Given the description of an element on the screen output the (x, y) to click on. 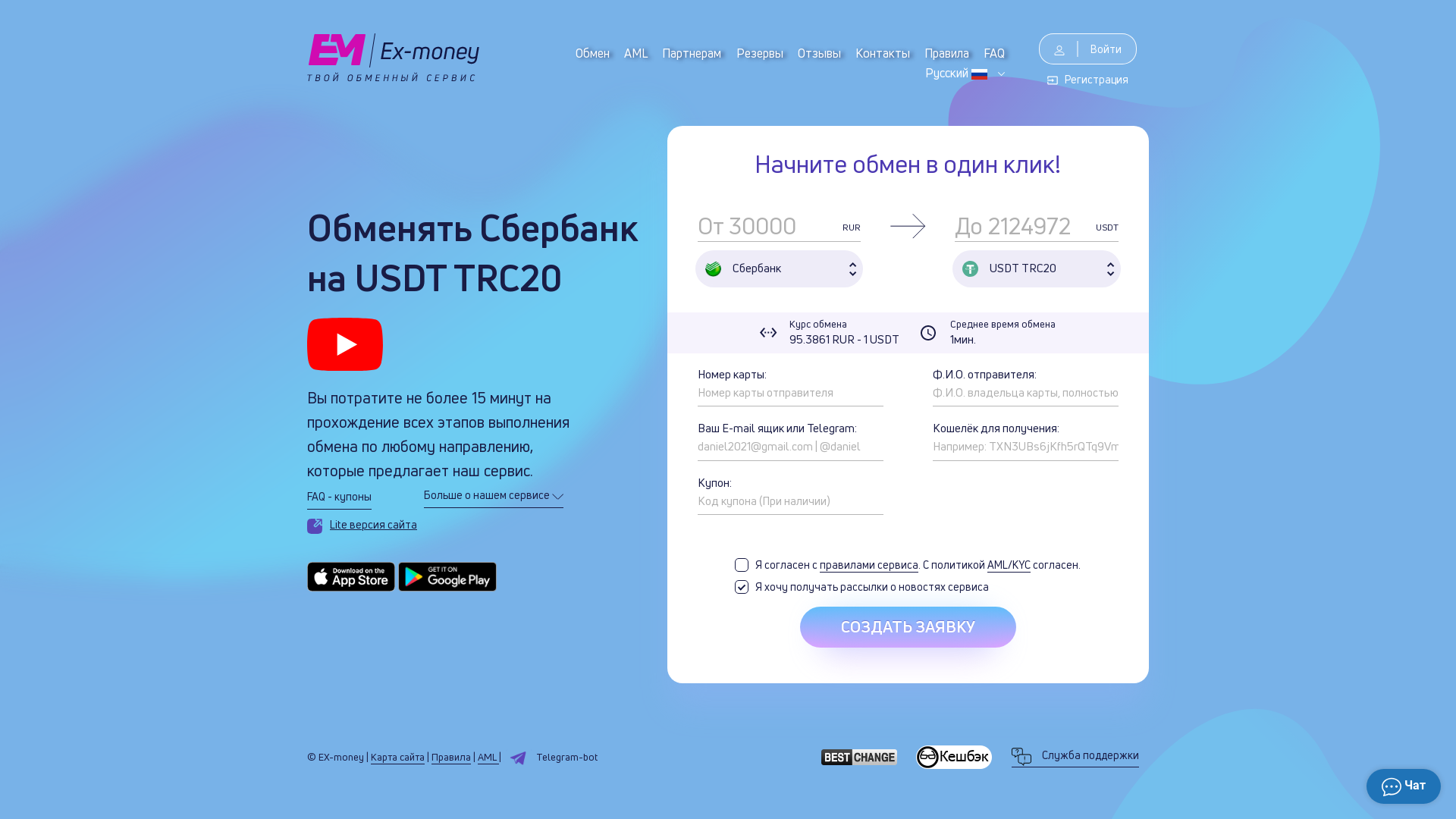
Telegram-bot Element type: text (550, 758)
AML Element type: text (635, 53)
AML Element type: text (487, 756)
AML/KYC Element type: text (1008, 564)
  Element type: text (541, 53)
  Element type: text (559, 53)
FAQ Element type: text (993, 53)
